Given the description of an element on the screen output the (x, y) to click on. 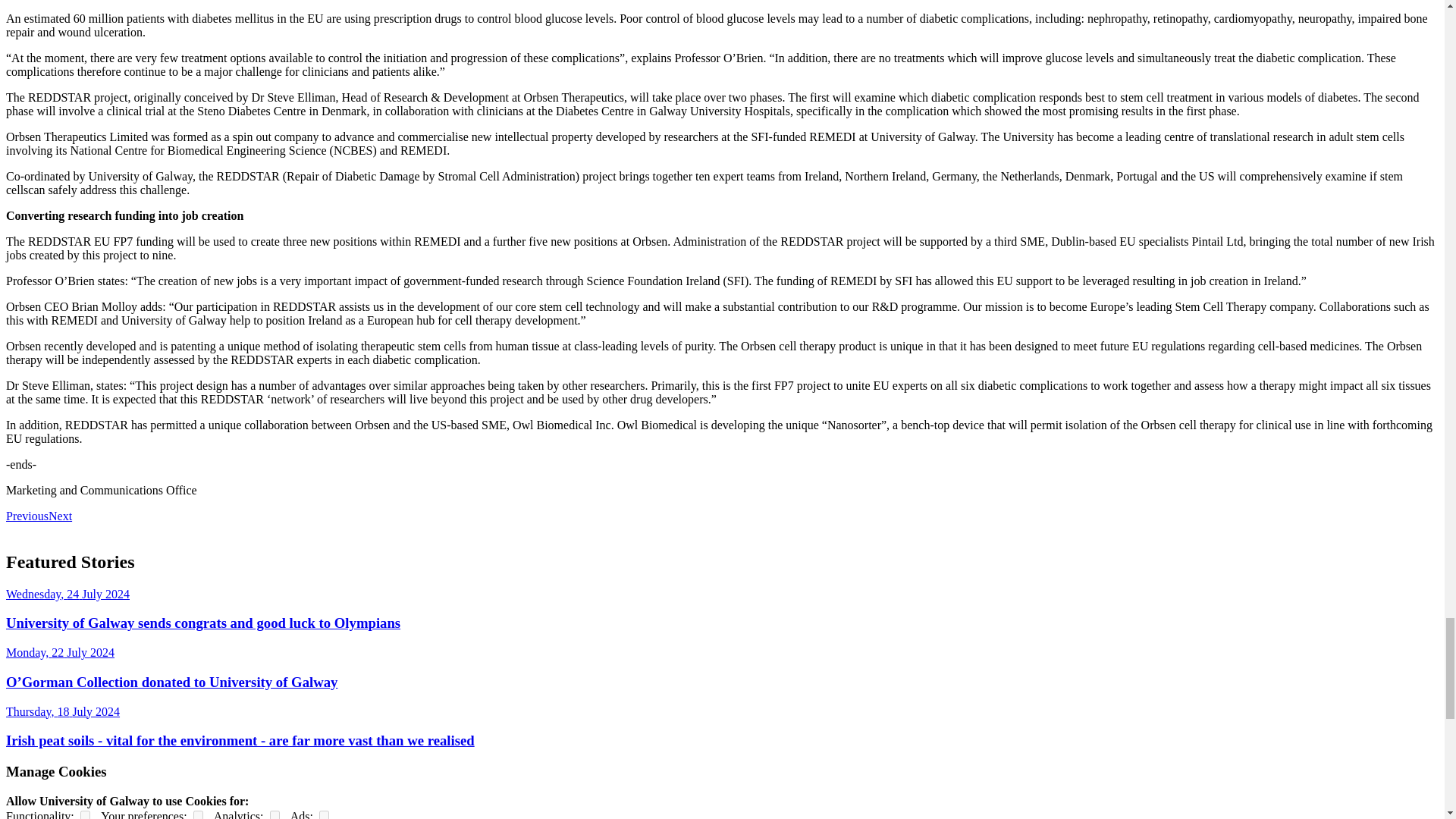
on (198, 814)
on (85, 814)
on (323, 814)
on (274, 814)
